Given the description of an element on the screen output the (x, y) to click on. 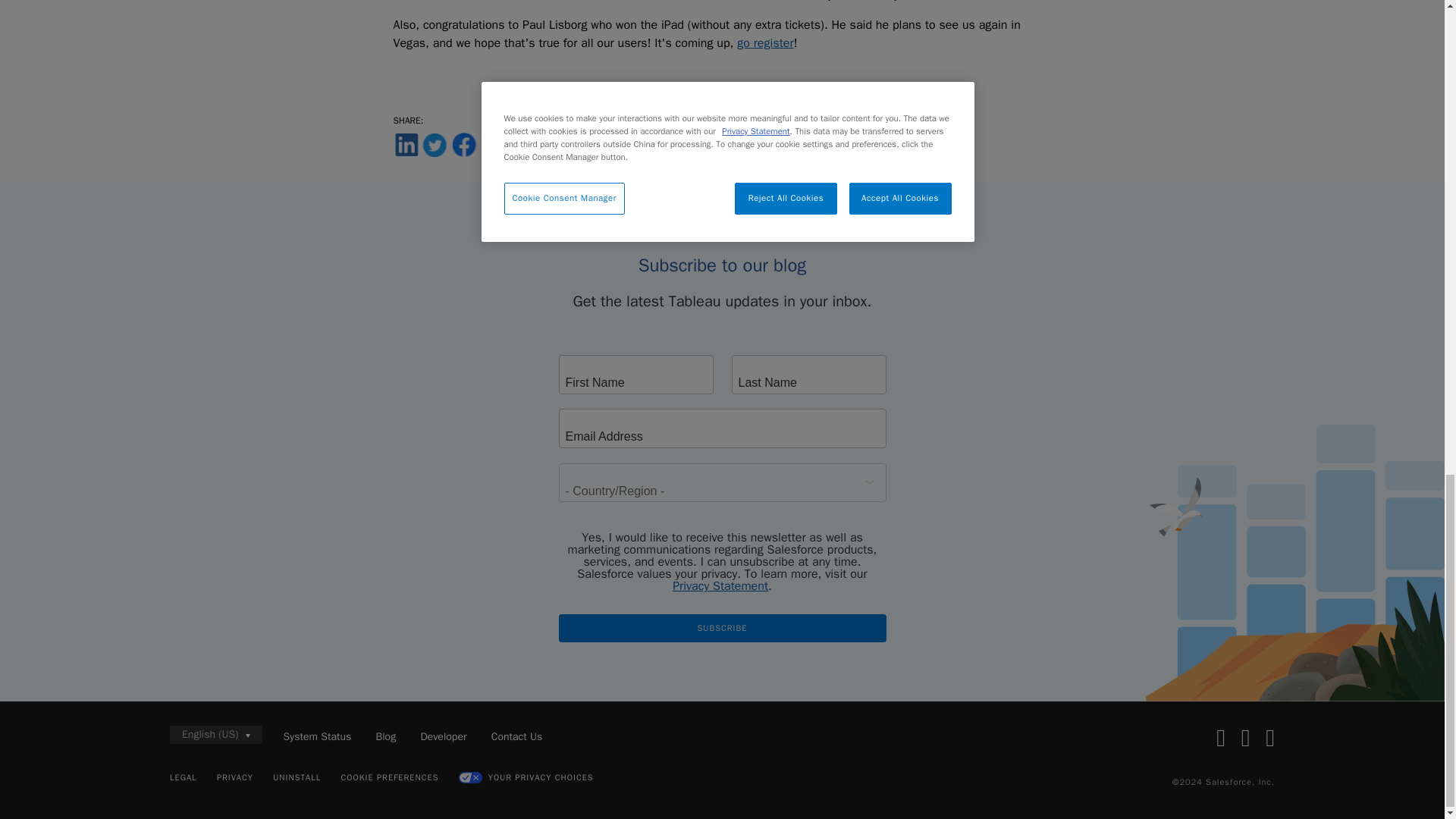
Subscribe (721, 628)
